Given the description of an element on the screen output the (x, y) to click on. 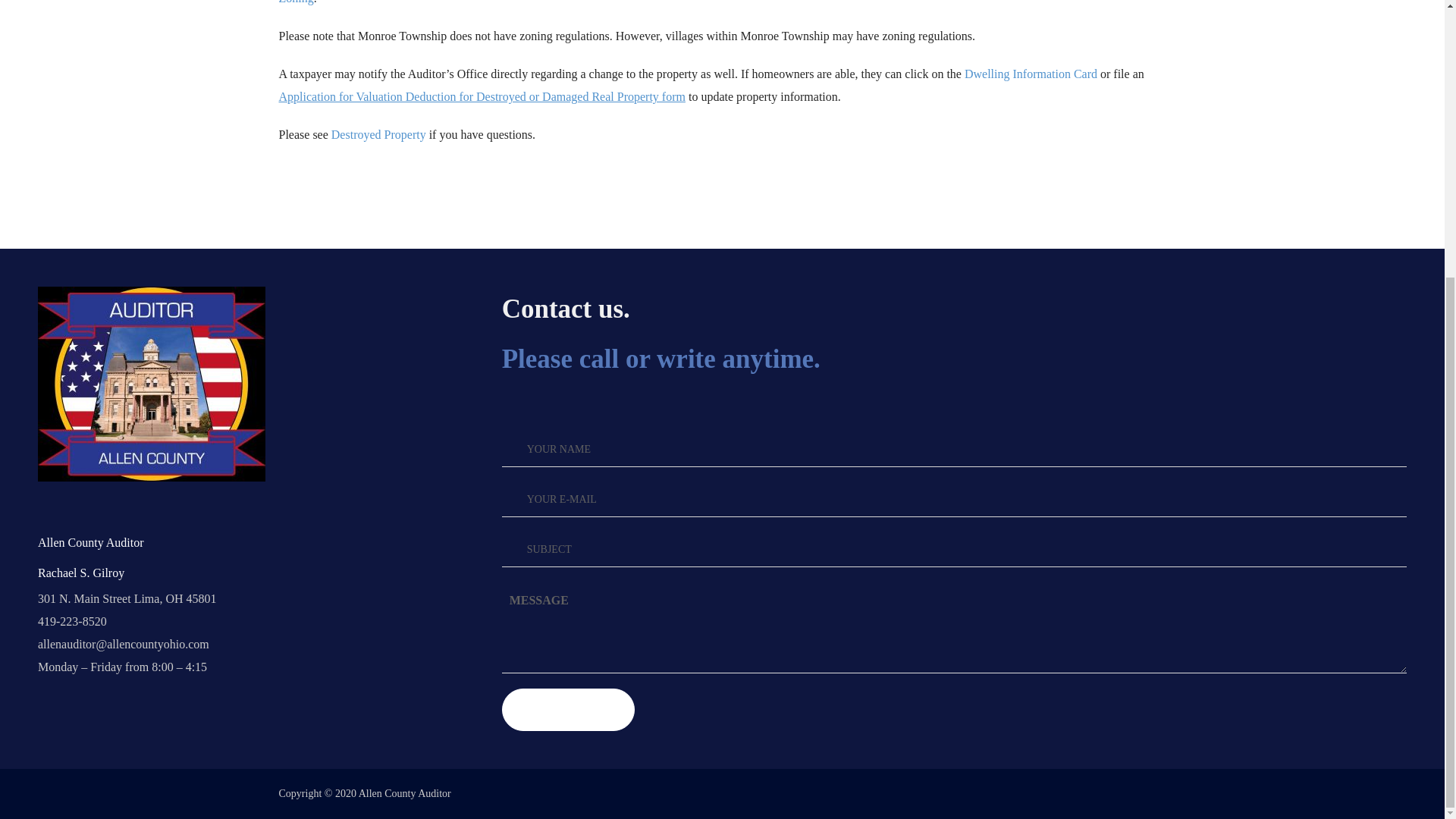
SEND A MESSAGE (568, 709)
